Given the description of an element on the screen output the (x, y) to click on. 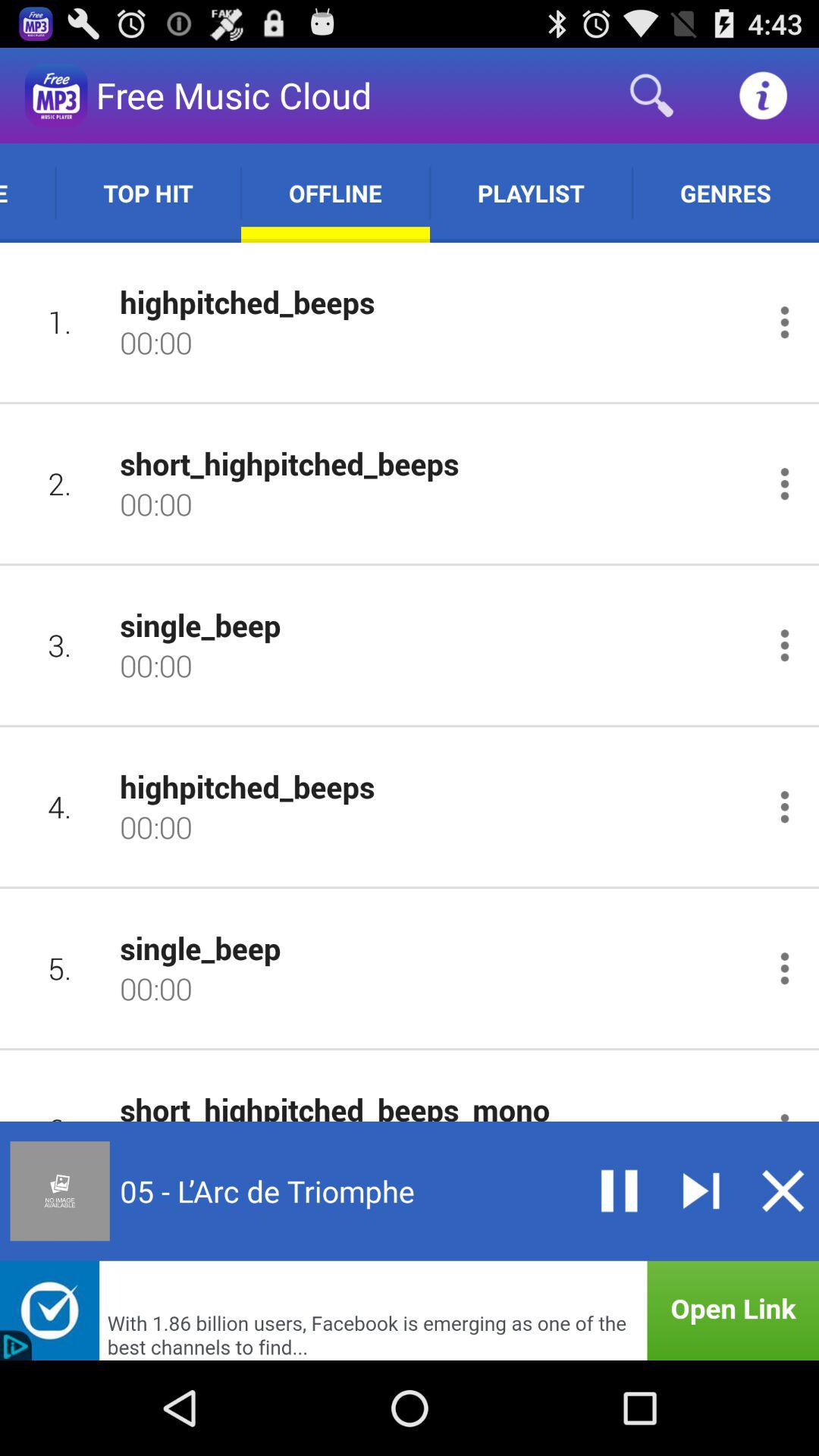
toggle options menu (784, 483)
